Given the description of an element on the screen output the (x, y) to click on. 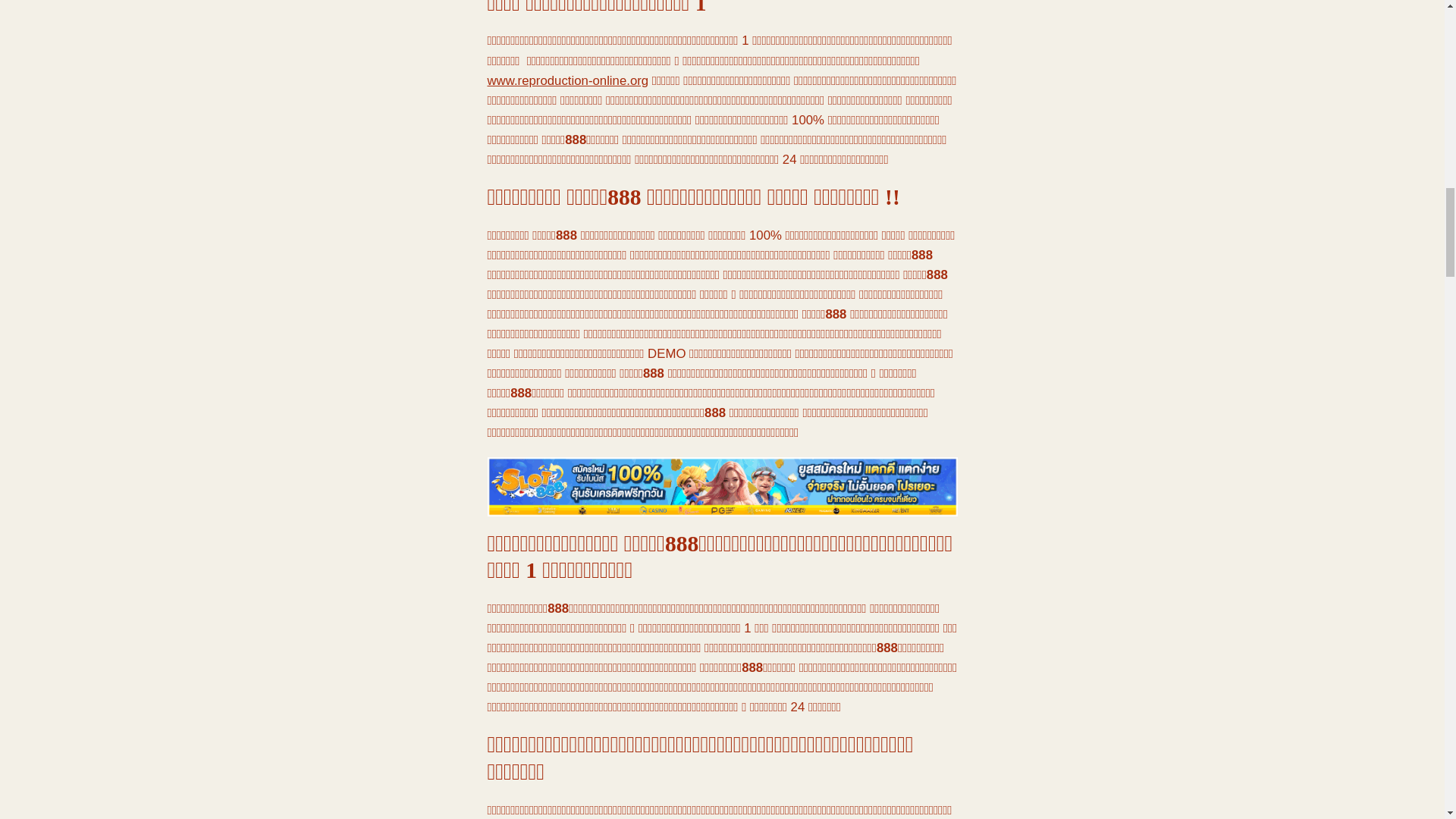
www.reproduction-online.org (566, 80)
